Given the description of an element on the screen output the (x, y) to click on. 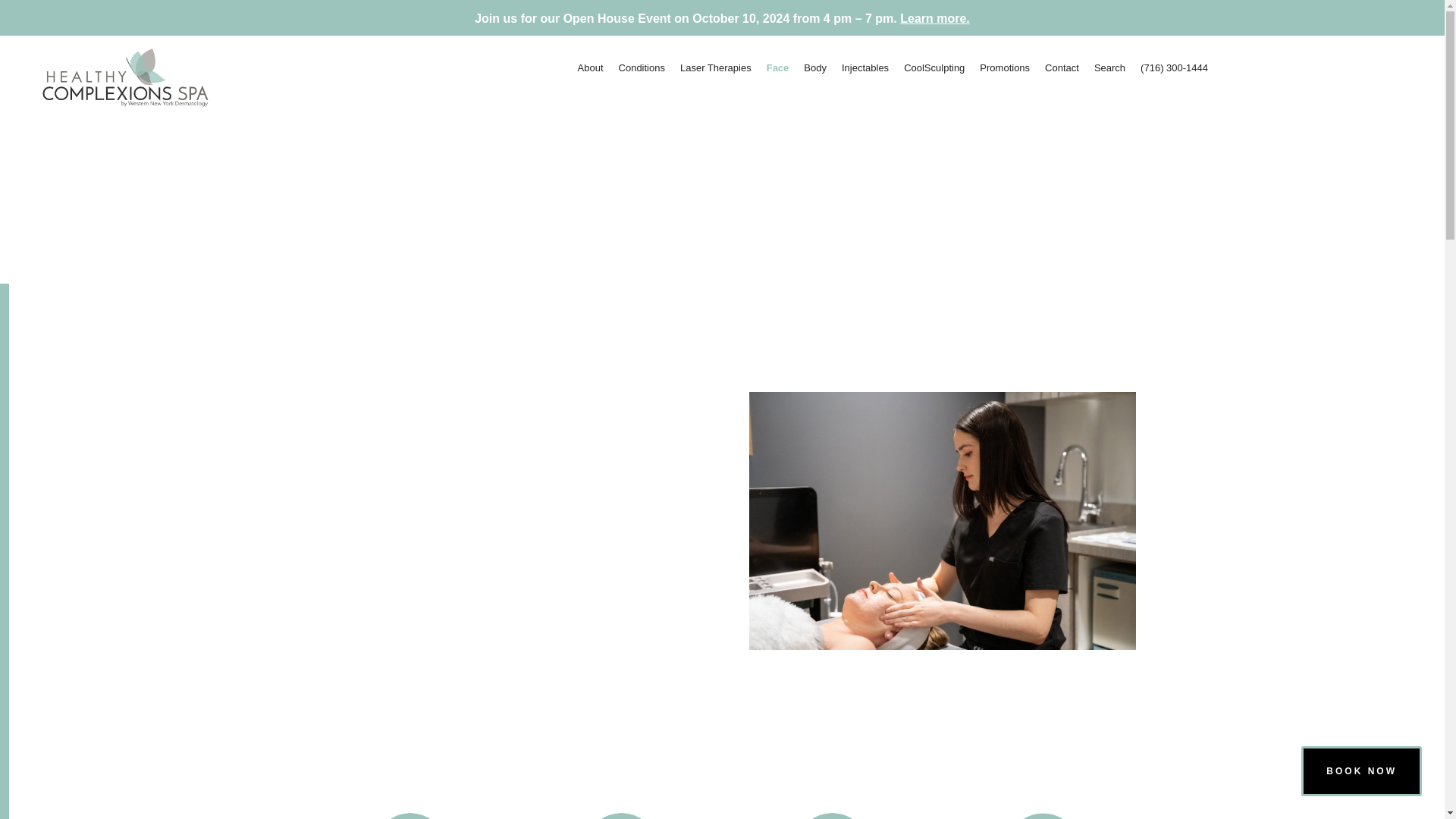
About (590, 68)
DSC00279 (942, 521)
Learn more. (934, 18)
Conditions (641, 68)
